Given the description of an element on the screen output the (x, y) to click on. 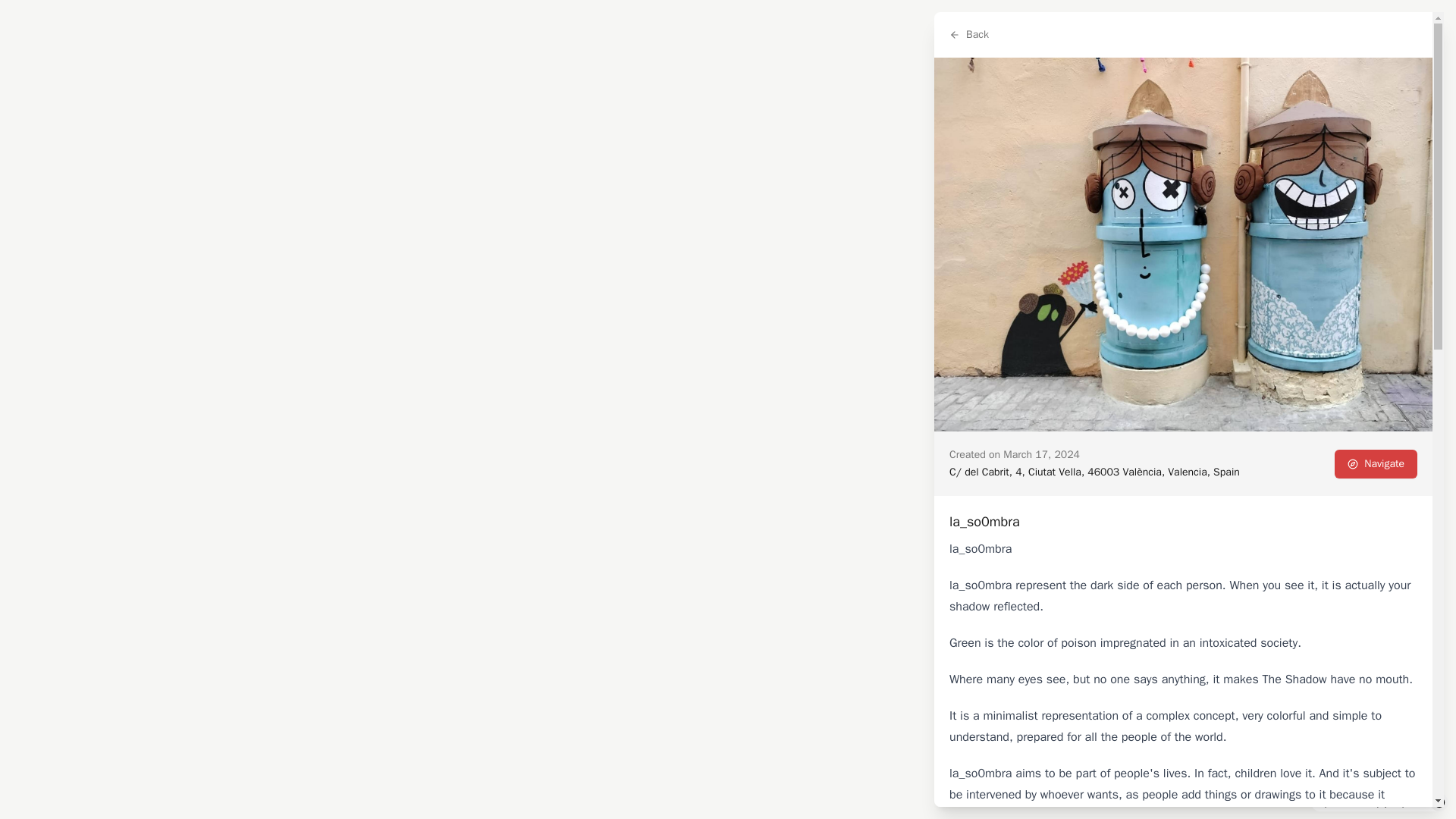
MapLibre (1407, 801)
OpenStreetMap (1349, 801)
Toggle attribution (1438, 802)
Back (969, 34)
Navigate (1375, 462)
